Given the description of an element on the screen output the (x, y) to click on. 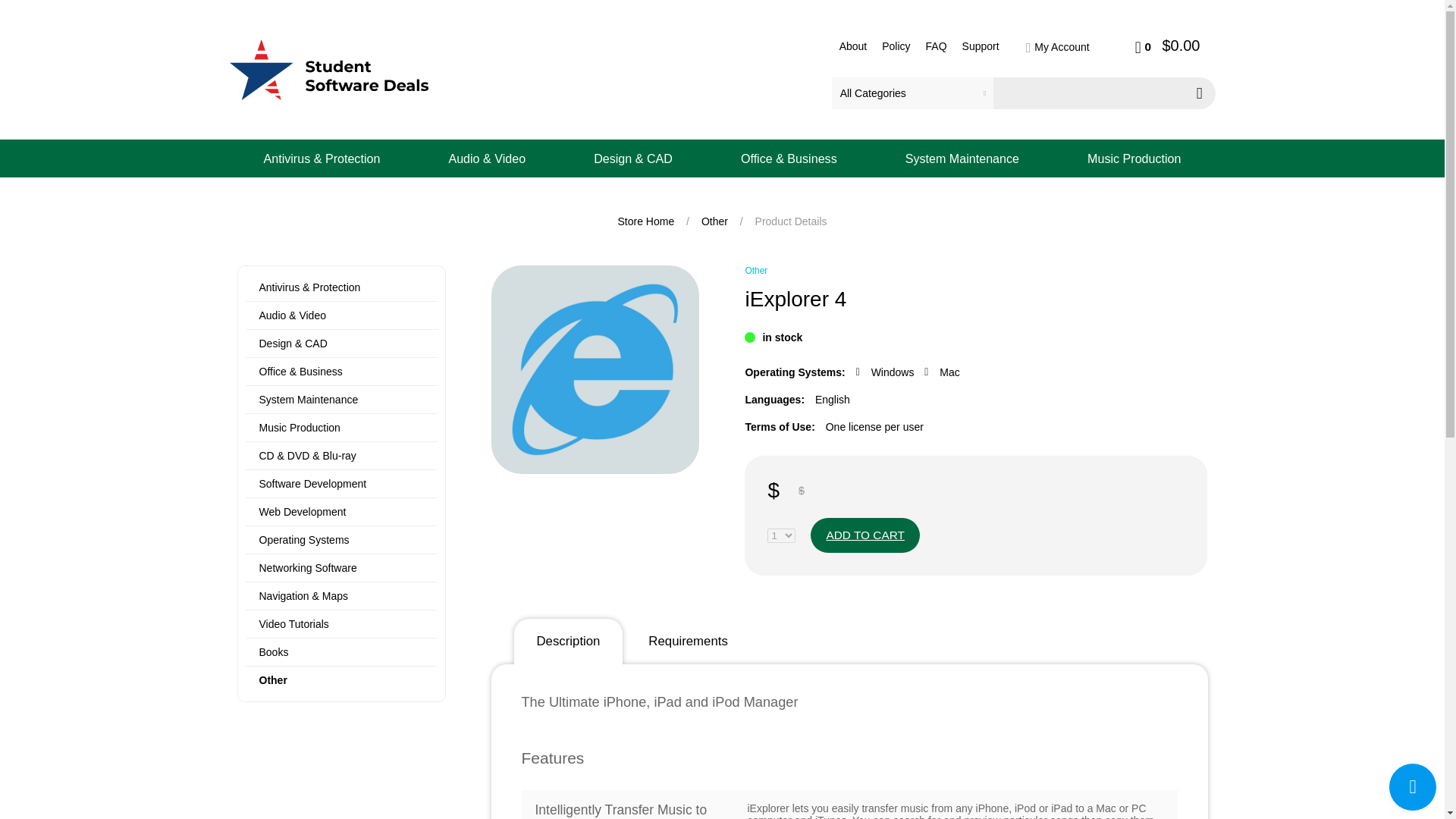
Policy (896, 46)
Support (980, 46)
System Maintenance (961, 158)
Music Production (1133, 158)
Store Home (647, 221)
Other (715, 221)
System Maintenance (308, 399)
About (853, 46)
